Given the description of an element on the screen output the (x, y) to click on. 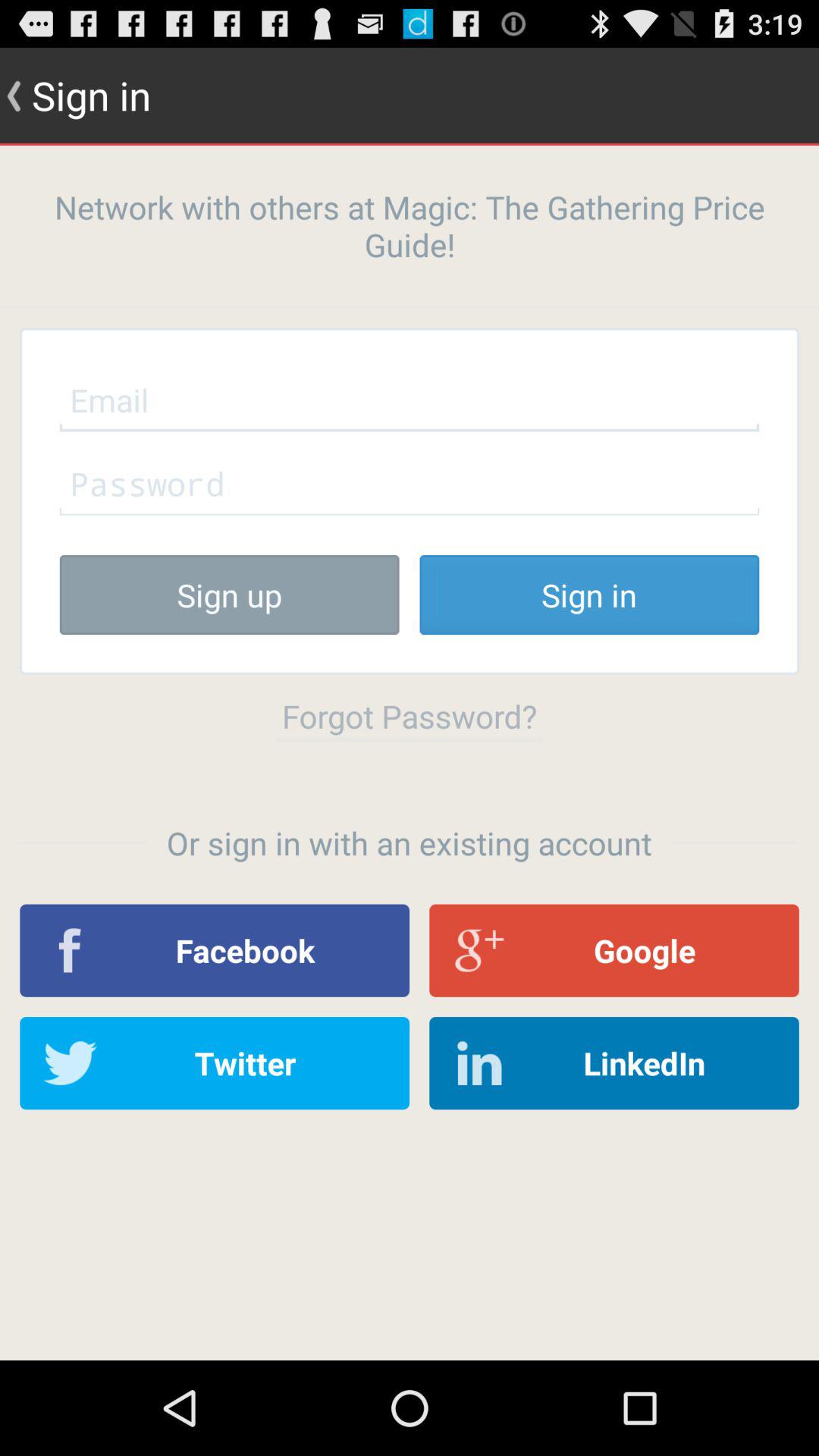
swipe to facebook item (214, 950)
